Given the description of an element on the screen output the (x, y) to click on. 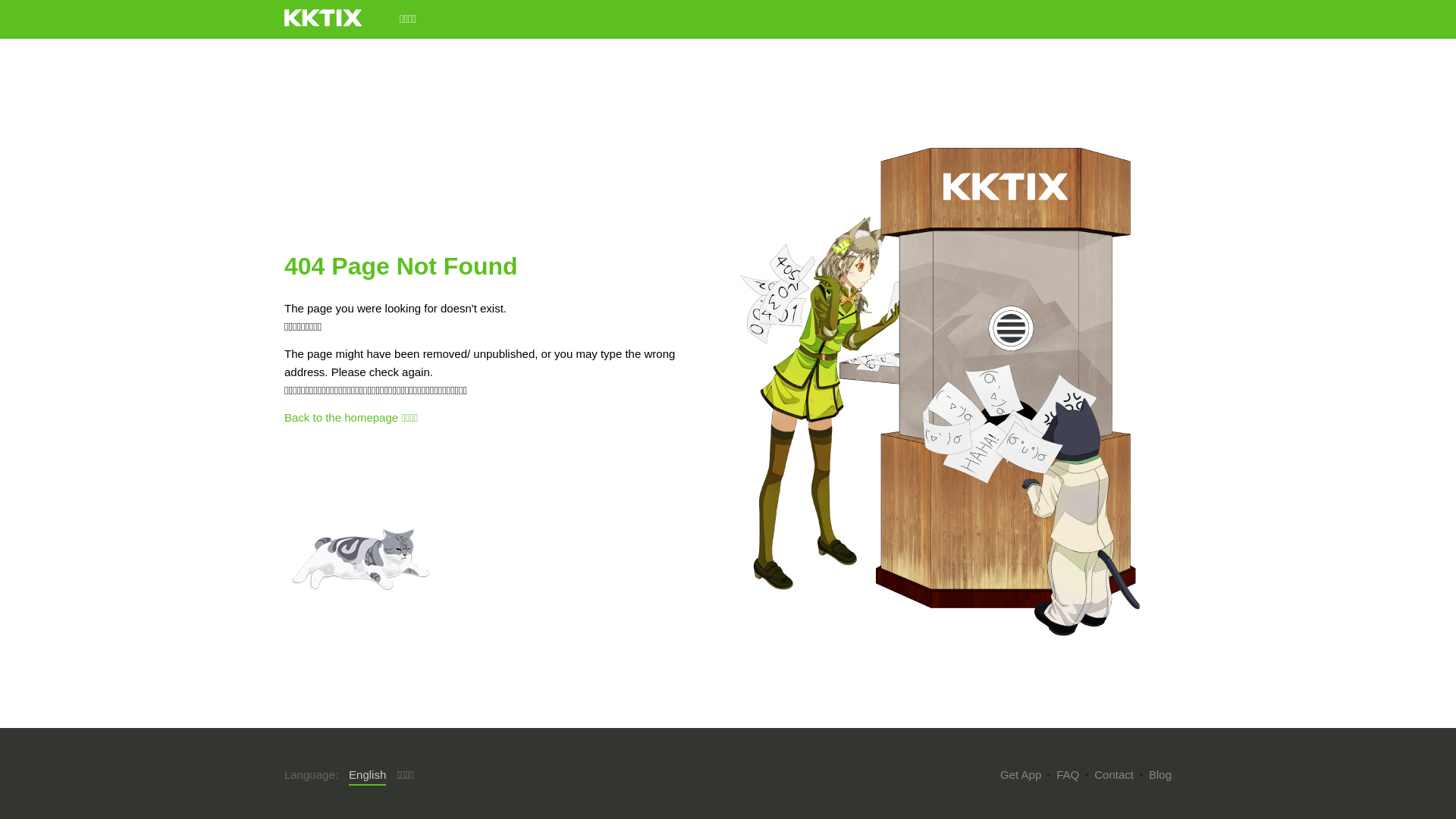
FAQ Element type: text (1067, 774)
Blog Element type: text (1159, 774)
KKTIX Element type: text (322, 17)
Get App Element type: text (1020, 774)
English Element type: text (366, 775)
Contact Element type: text (1113, 774)
